Given the description of an element on the screen output the (x, y) to click on. 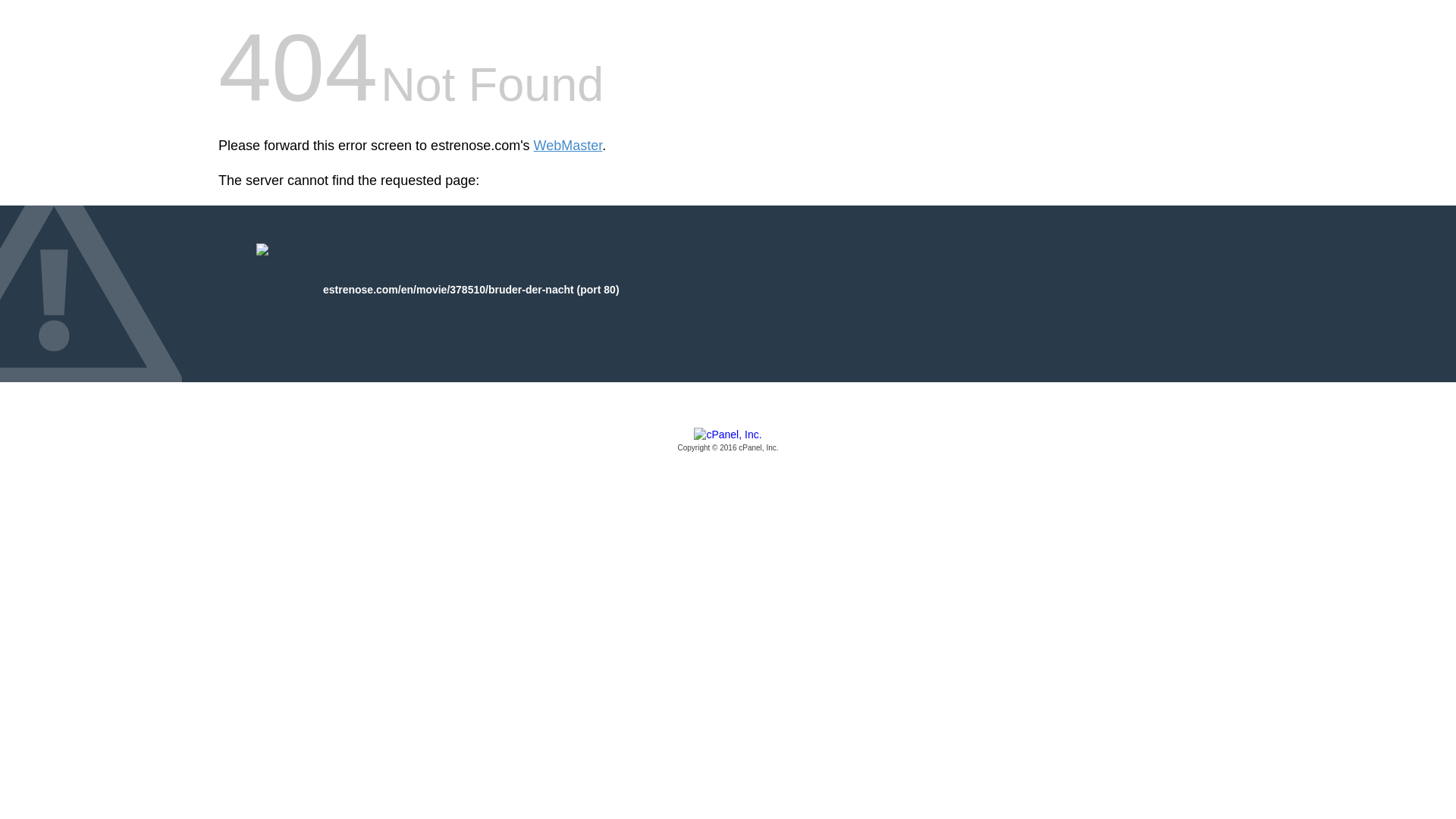
cPanel, Inc. (727, 440)
WebMaster (568, 145)
